Given the description of an element on the screen output the (x, y) to click on. 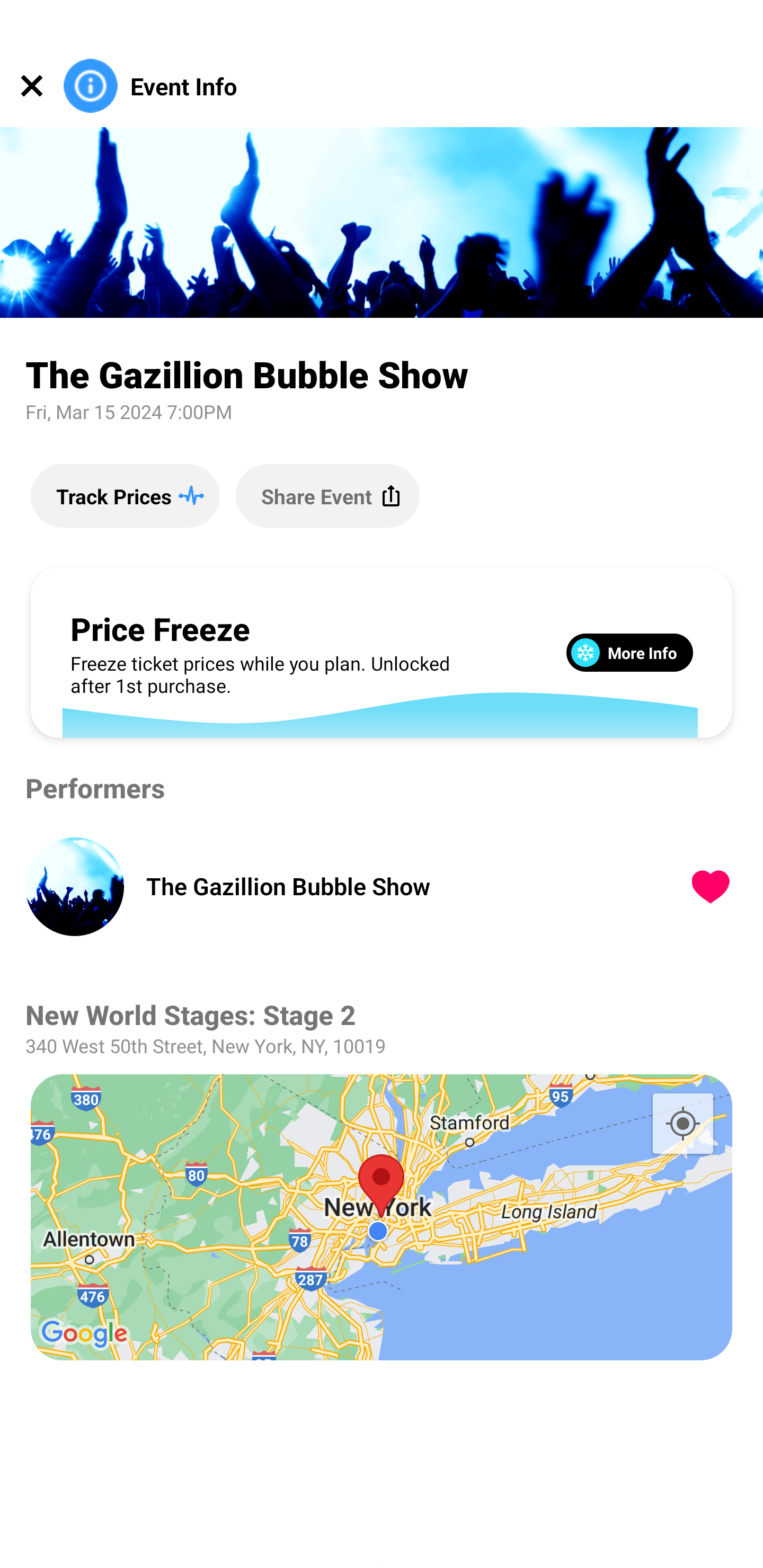
Track Prices (124, 495)
Share Event (327, 495)
More Info (629, 652)
The Gazillion Bubble Show (394, 886)
Google Map New World Stages: Stage 2 My Location (381, 1217)
My Location (682, 1123)
